Given the description of an element on the screen output the (x, y) to click on. 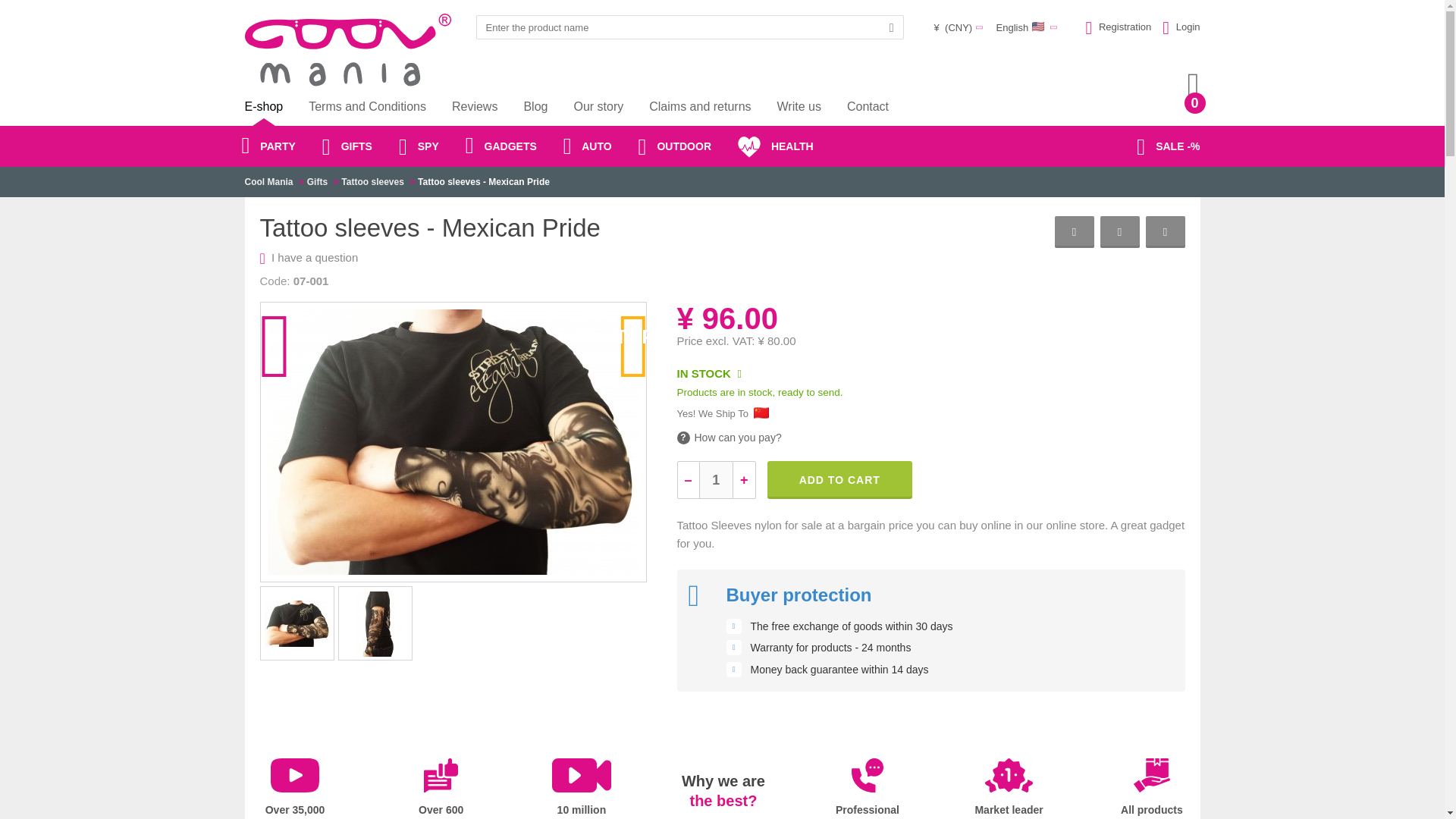
Cool Mania (268, 181)
Tattoo sleeves (867, 788)
How can you pay? (371, 181)
Add to cart (294, 788)
Add to cart (728, 437)
Gifts (581, 788)
